Given the description of an element on the screen output the (x, y) to click on. 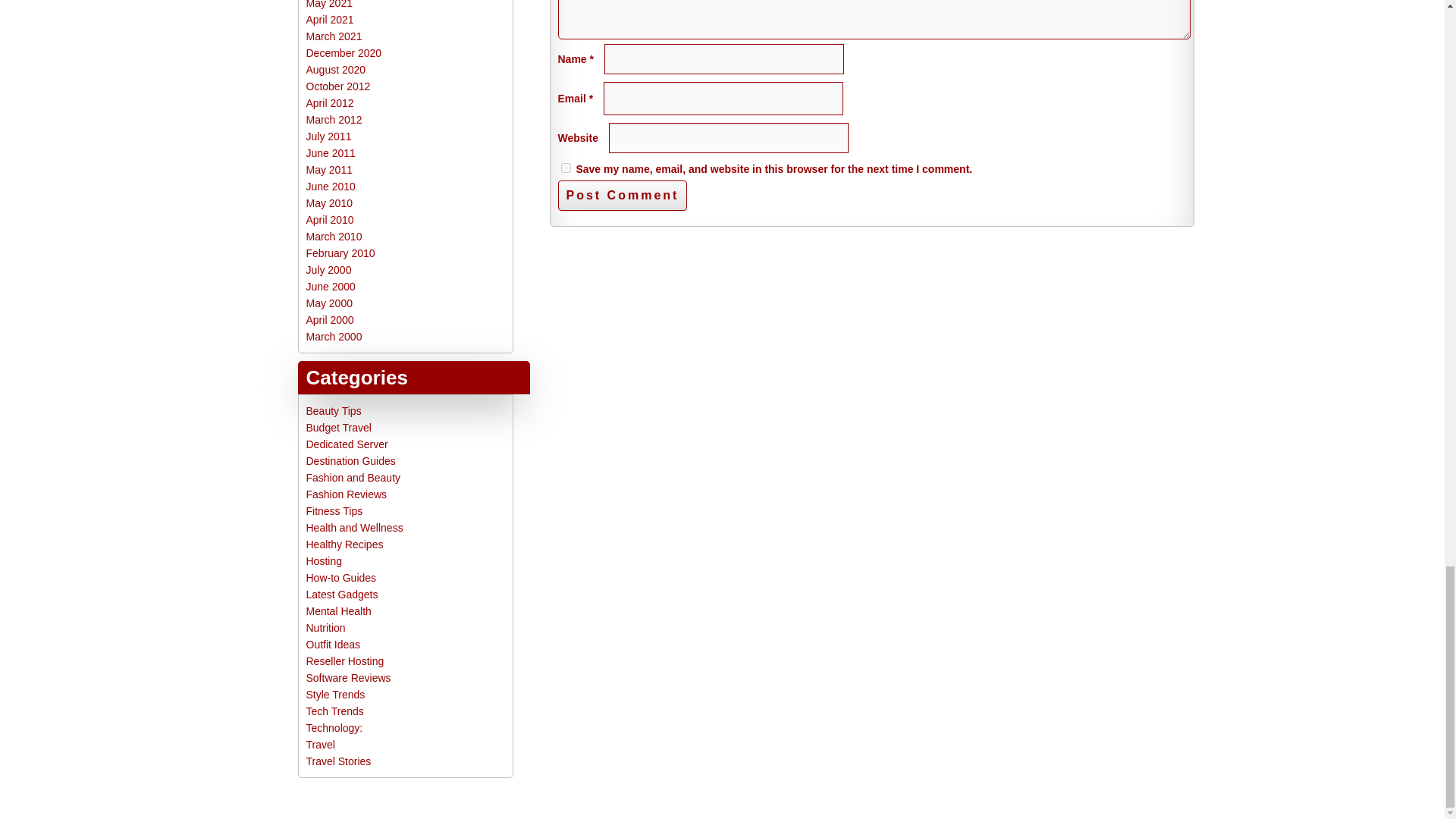
Post Comment (622, 195)
yes (565, 167)
Post Comment (622, 195)
